Given the description of an element on the screen output the (x, y) to click on. 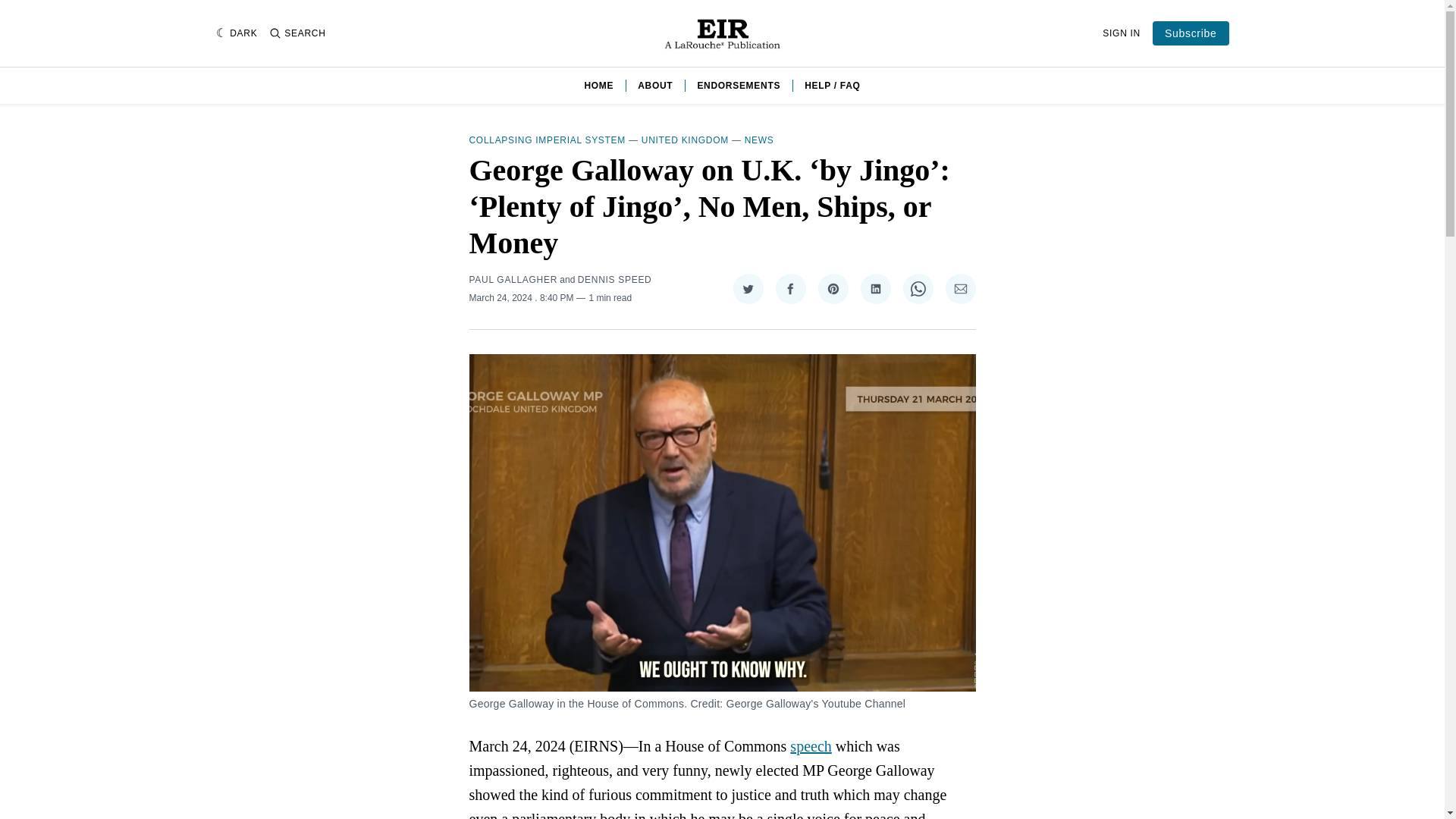
Share on Twitter (747, 288)
PAUL GALLAGHER (512, 279)
COLLAPSING IMPERIAL SYSTEM (546, 140)
Share via Email (959, 288)
Share on LinkedIn (874, 288)
speech (810, 745)
Share on WhatsApp (917, 288)
DENNIS SPEED (615, 279)
SEARCH (296, 33)
Subscribe (1190, 33)
